Given the description of an element on the screen output the (x, y) to click on. 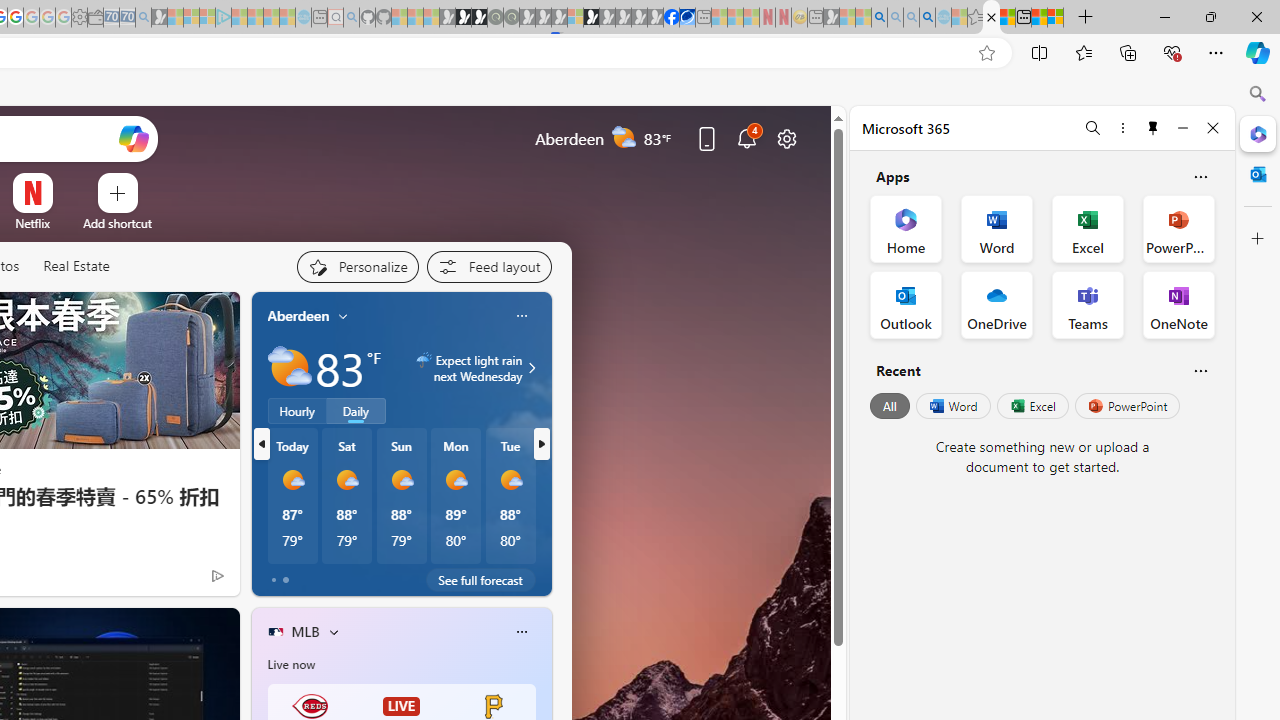
More options (1122, 127)
Close Outlook pane (1258, 174)
All (890, 406)
github - Search - Sleeping (351, 17)
Excel (1031, 406)
Sign in to your account - Sleeping (575, 17)
MSN - Sleeping (831, 17)
OneDrive Office App (996, 304)
Is this helpful? (1200, 370)
